Given the description of an element on the screen output the (x, y) to click on. 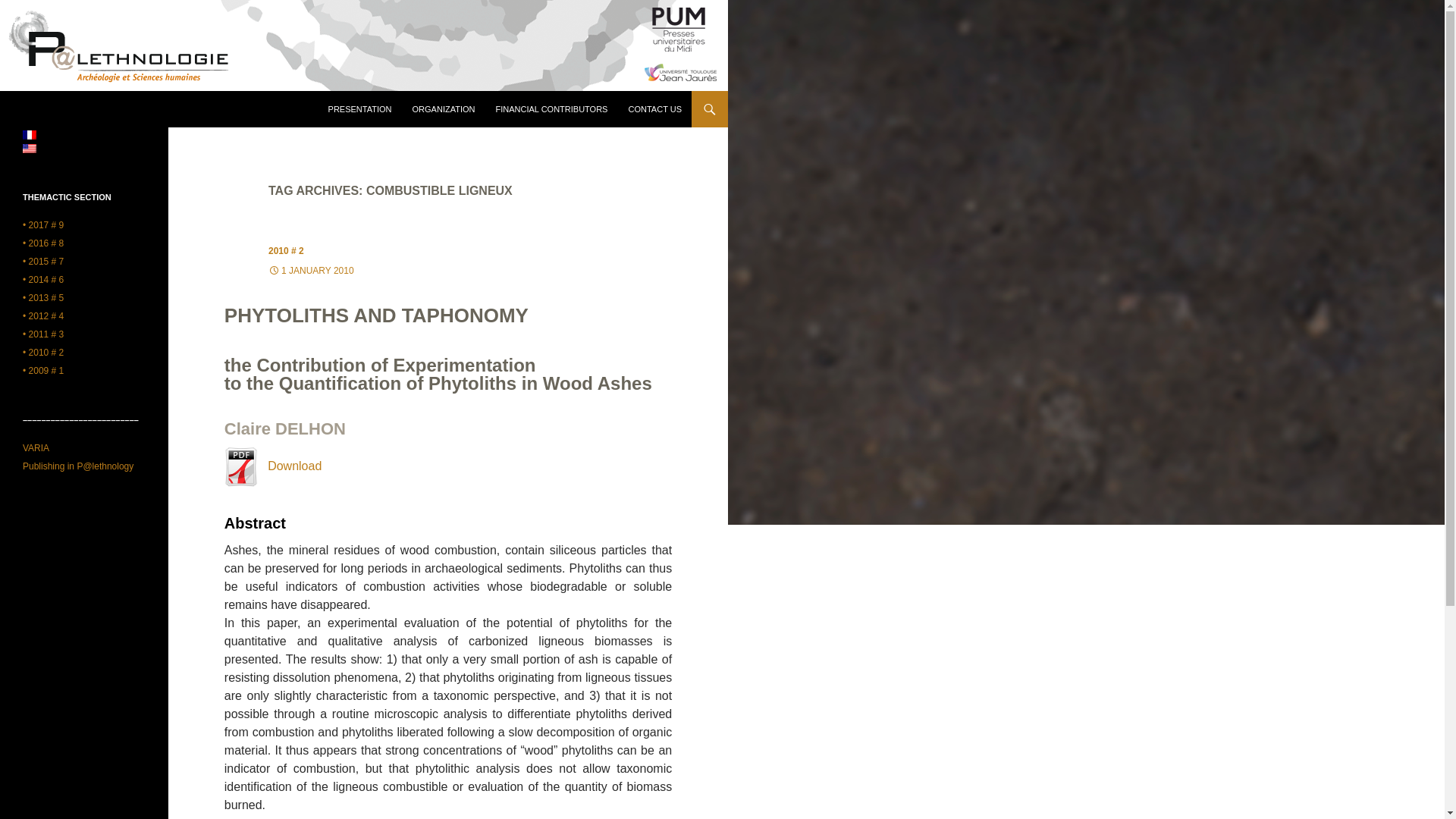
   Download (272, 465)
1 JANUARY 2010 (310, 270)
VARIA (36, 448)
CONTACT US (654, 108)
ORGANIZATION (443, 108)
PRESENTATION (359, 108)
FINANCIAL CONTRIBUTORS (551, 108)
PALETHNOLOGIE (81, 108)
